Given the description of an element on the screen output the (x, y) to click on. 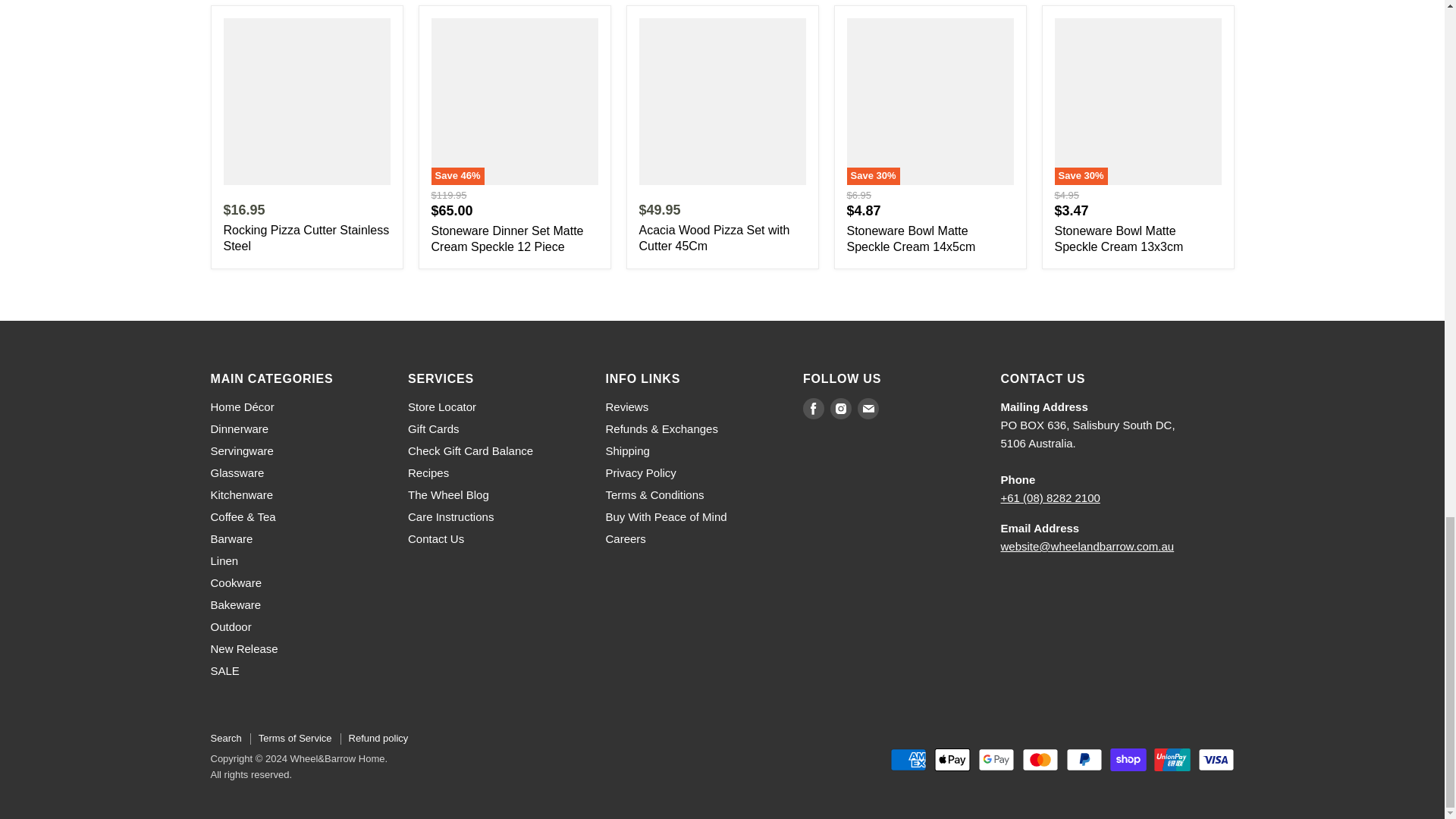
Facebook (813, 408)
Email (868, 408)
Instagram (840, 408)
tel:0882822100 (1050, 497)
